Given the description of an element on the screen output the (x, y) to click on. 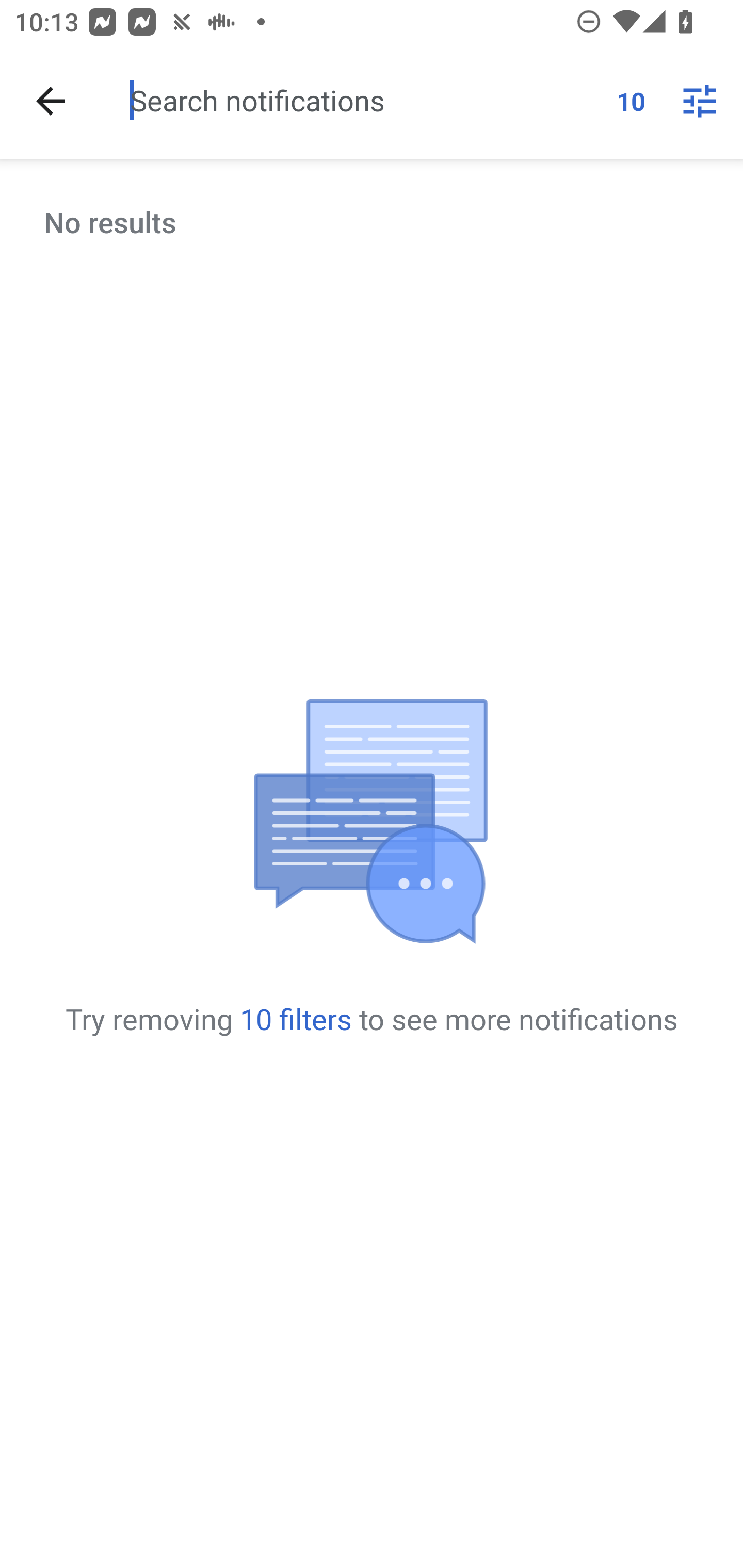
Done (50, 101)
Notification filter (699, 101)
Search notifications (365, 100)
